Given the description of an element on the screen output the (x, y) to click on. 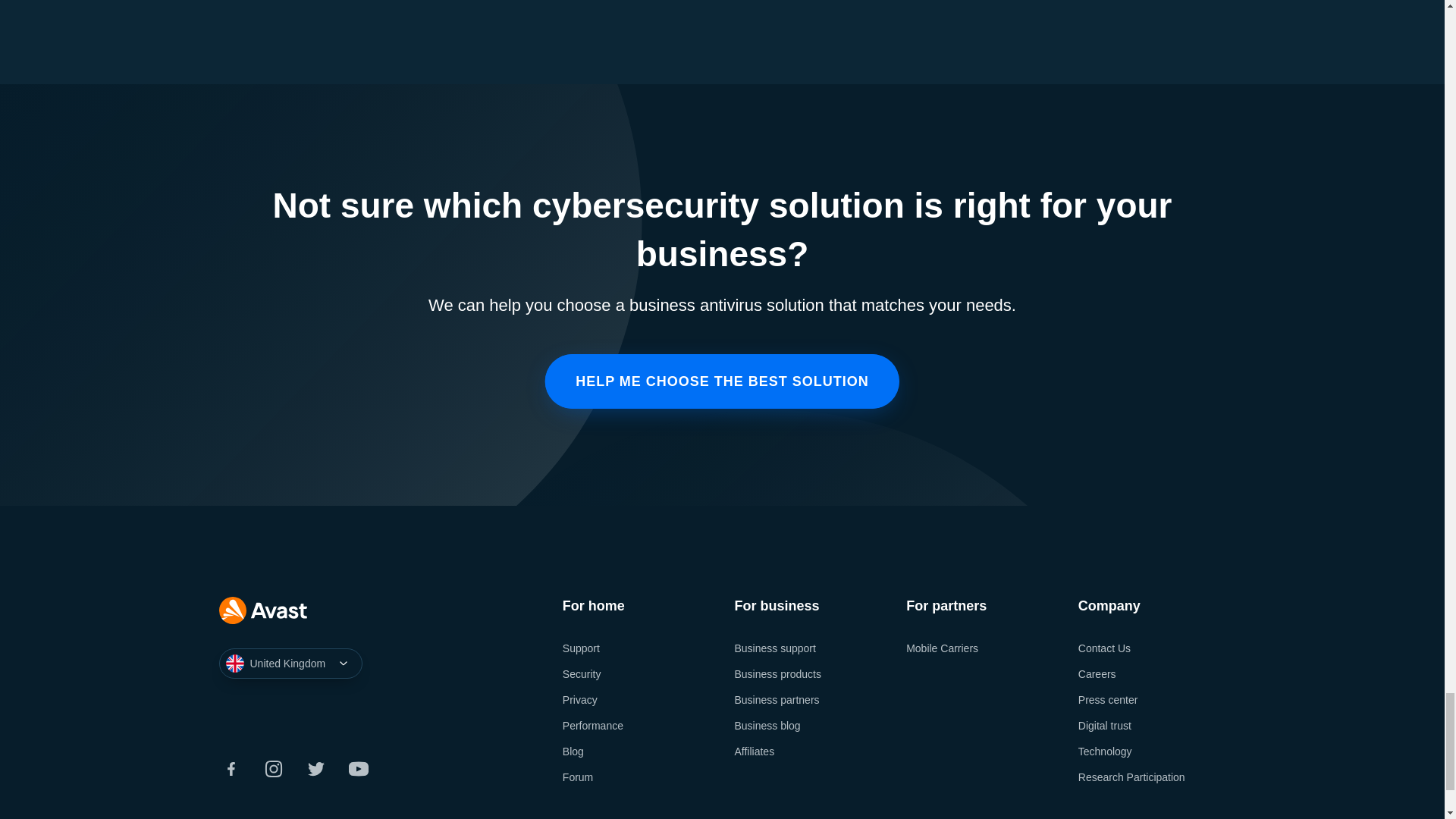
instagram (272, 768)
twitter (314, 768)
facebook (230, 768)
youtube (357, 768)
